Given the description of an element on the screen output the (x, y) to click on. 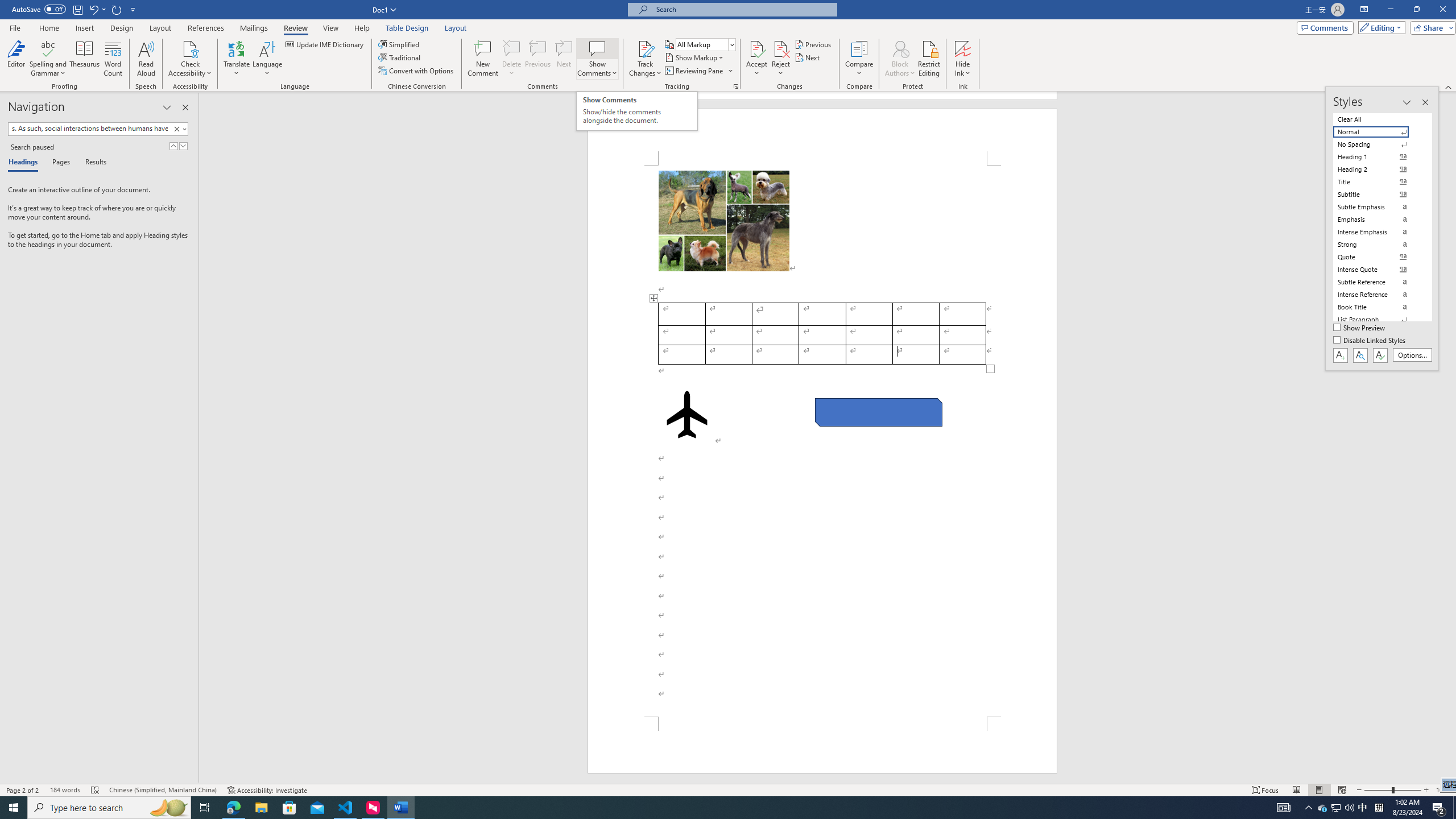
Heading 1 (1377, 156)
Page 2 content (822, 440)
Page Number Page 2 of 2 (22, 790)
Compare (859, 58)
Block Authors (900, 58)
Headings (25, 162)
Rectangle: Diagonal Corners Snipped 2 (878, 412)
Clear All (1377, 119)
Language Chinese (Simplified, Mainland China) (162, 790)
Editing (1379, 27)
Simplified (400, 44)
Translate (236, 58)
Title (1377, 182)
